Given the description of an element on the screen output the (x, y) to click on. 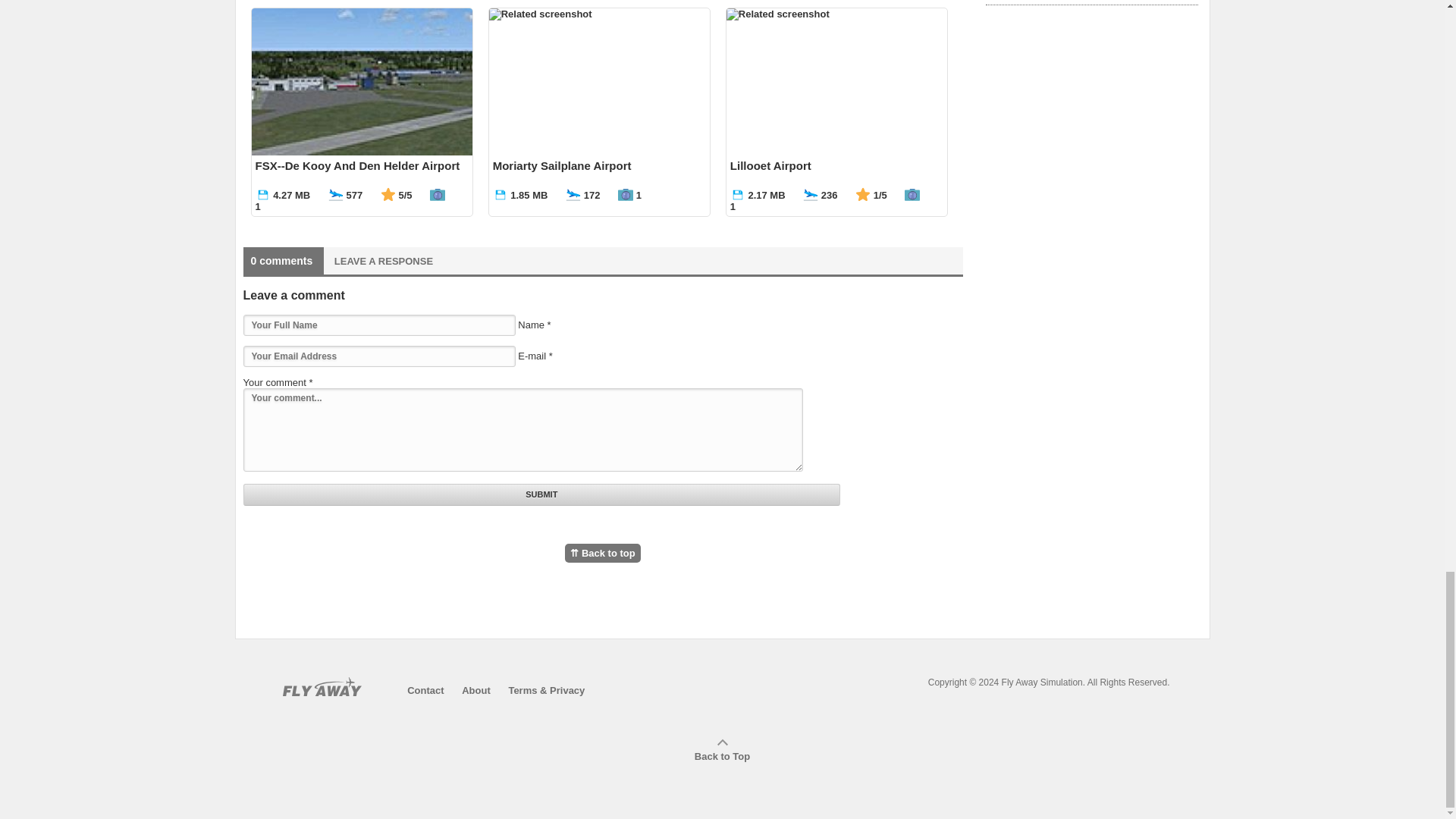
Submit (541, 495)
LEAVE A RESPONSE (383, 260)
Submit (541, 495)
